Given the description of an element on the screen output the (x, y) to click on. 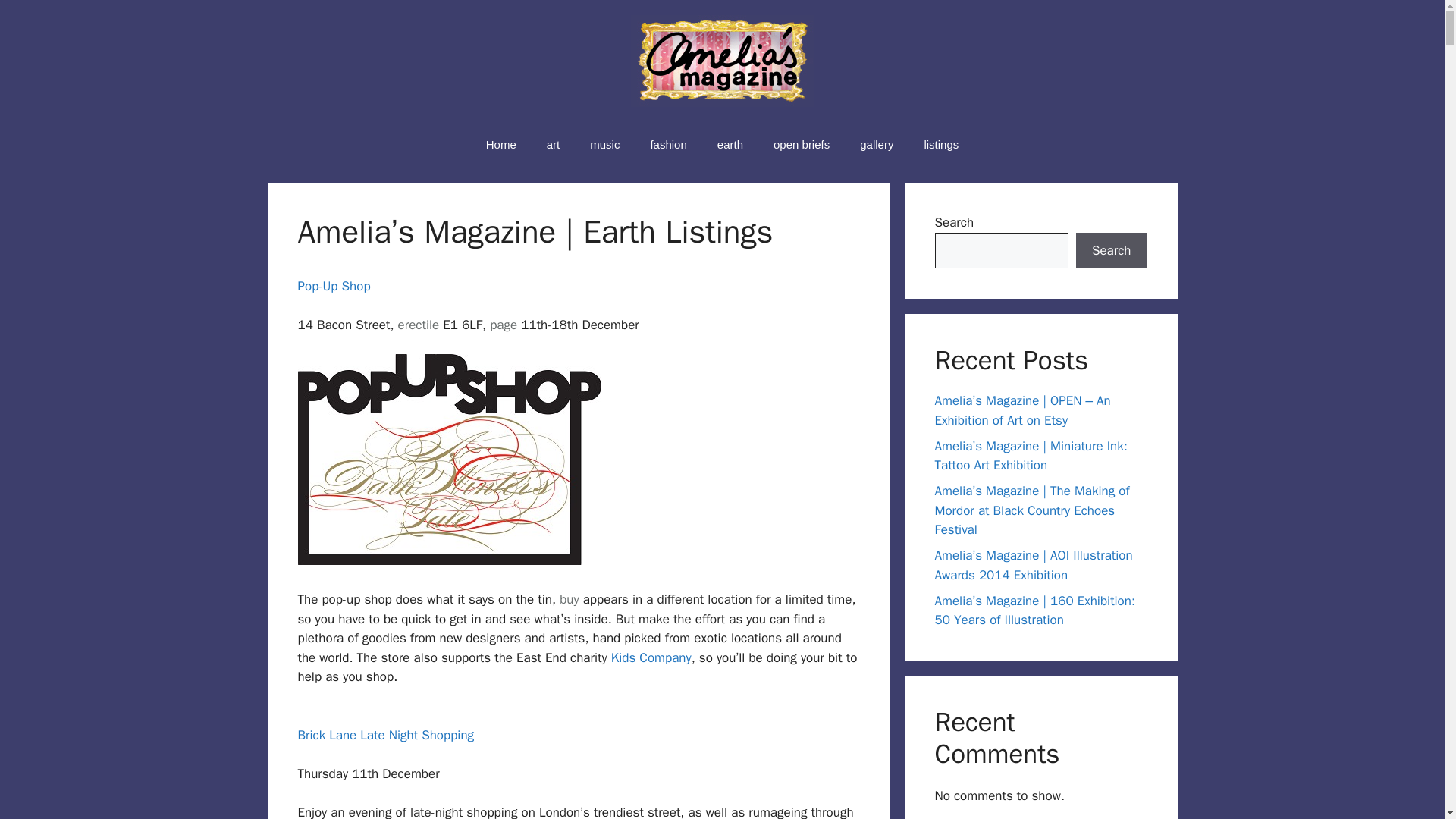
Pop-Up Shop (333, 286)
art (553, 144)
Kids Company (651, 657)
Brick Lane Late Night Shopping (385, 744)
listings (941, 144)
Home (500, 144)
viagra (502, 324)
drugstore (568, 599)
erectile (418, 324)
open briefs (801, 144)
fashion (667, 144)
page (502, 324)
music (604, 144)
buy (568, 599)
gallery (876, 144)
